Given the description of an element on the screen output the (x, y) to click on. 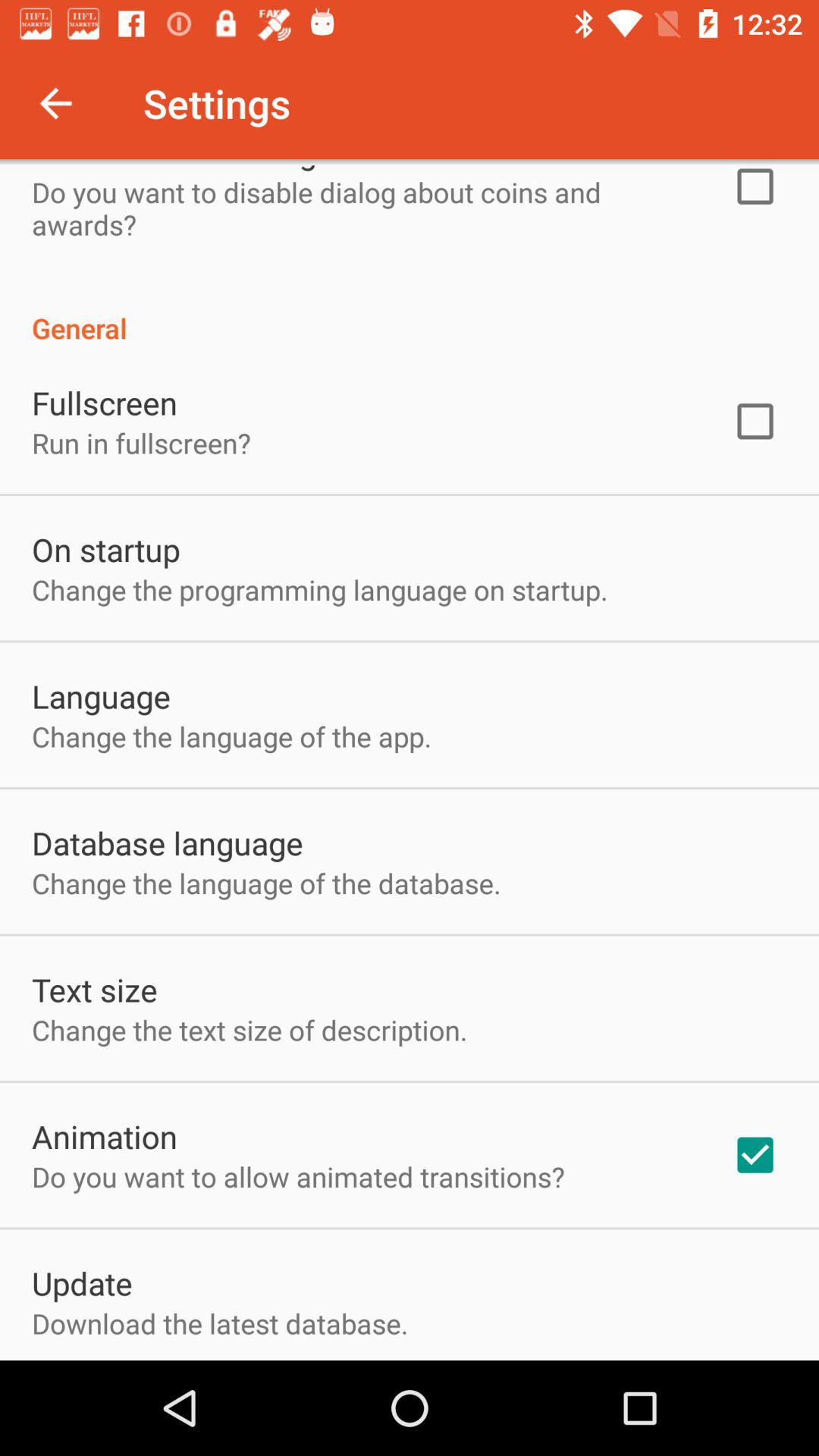
flip to update item (81, 1282)
